Given the description of an element on the screen output the (x, y) to click on. 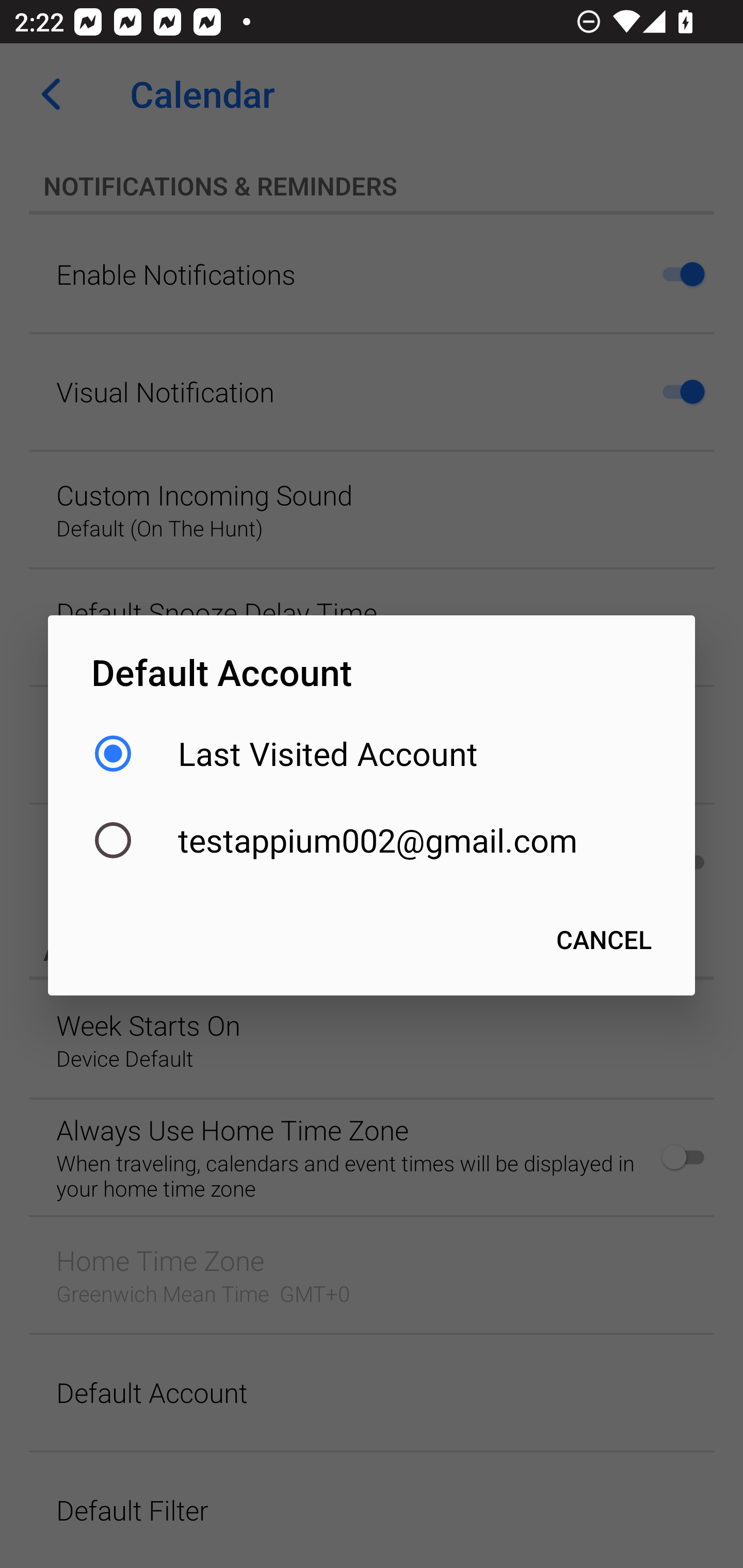
Last Visited Account (371, 753)
testappium002@gmail.com (371, 839)
CANCEL (603, 938)
